Given the description of an element on the screen output the (x, y) to click on. 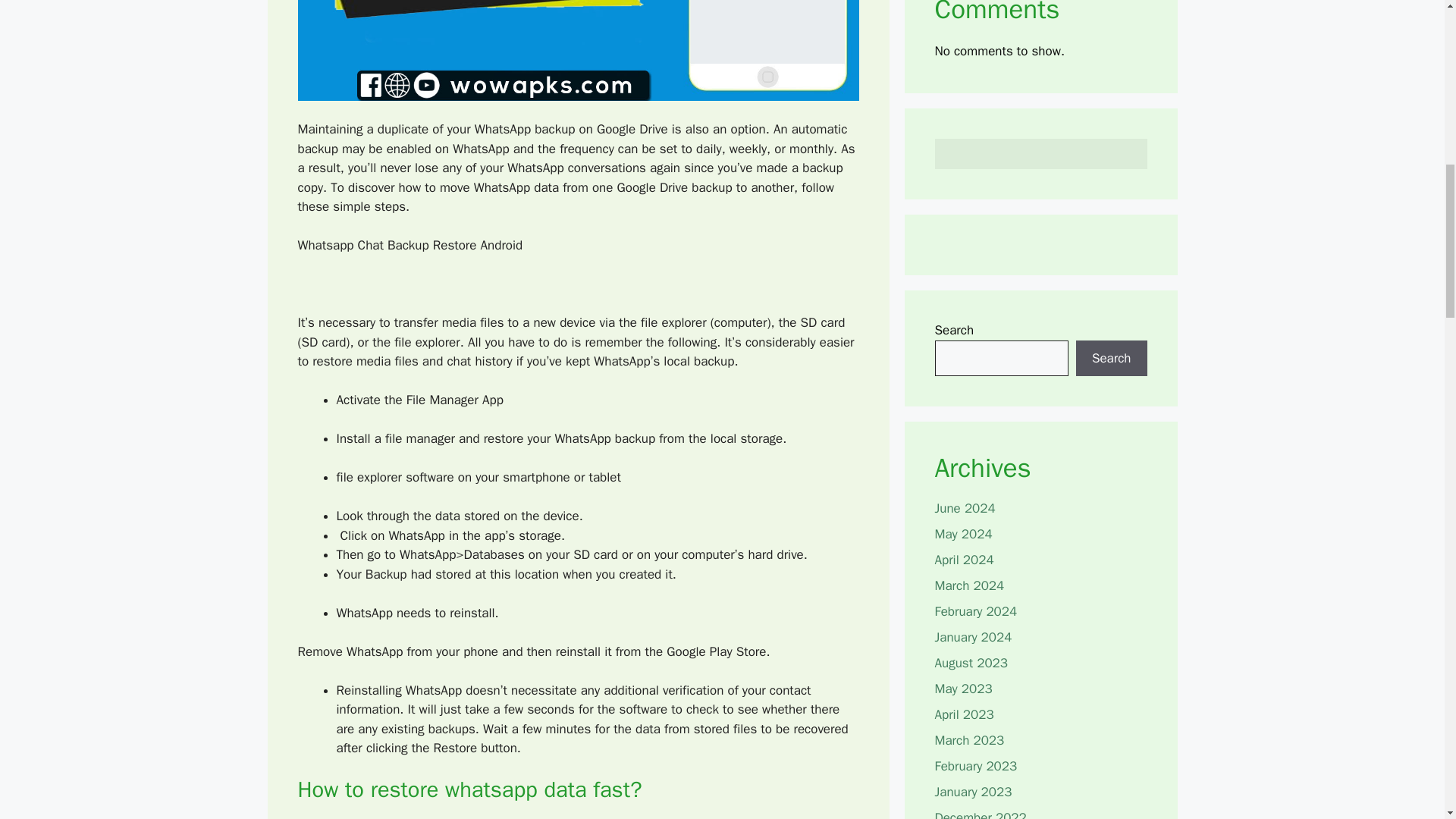
Scroll back to top (1406, 720)
